Given the description of an element on the screen output the (x, y) to click on. 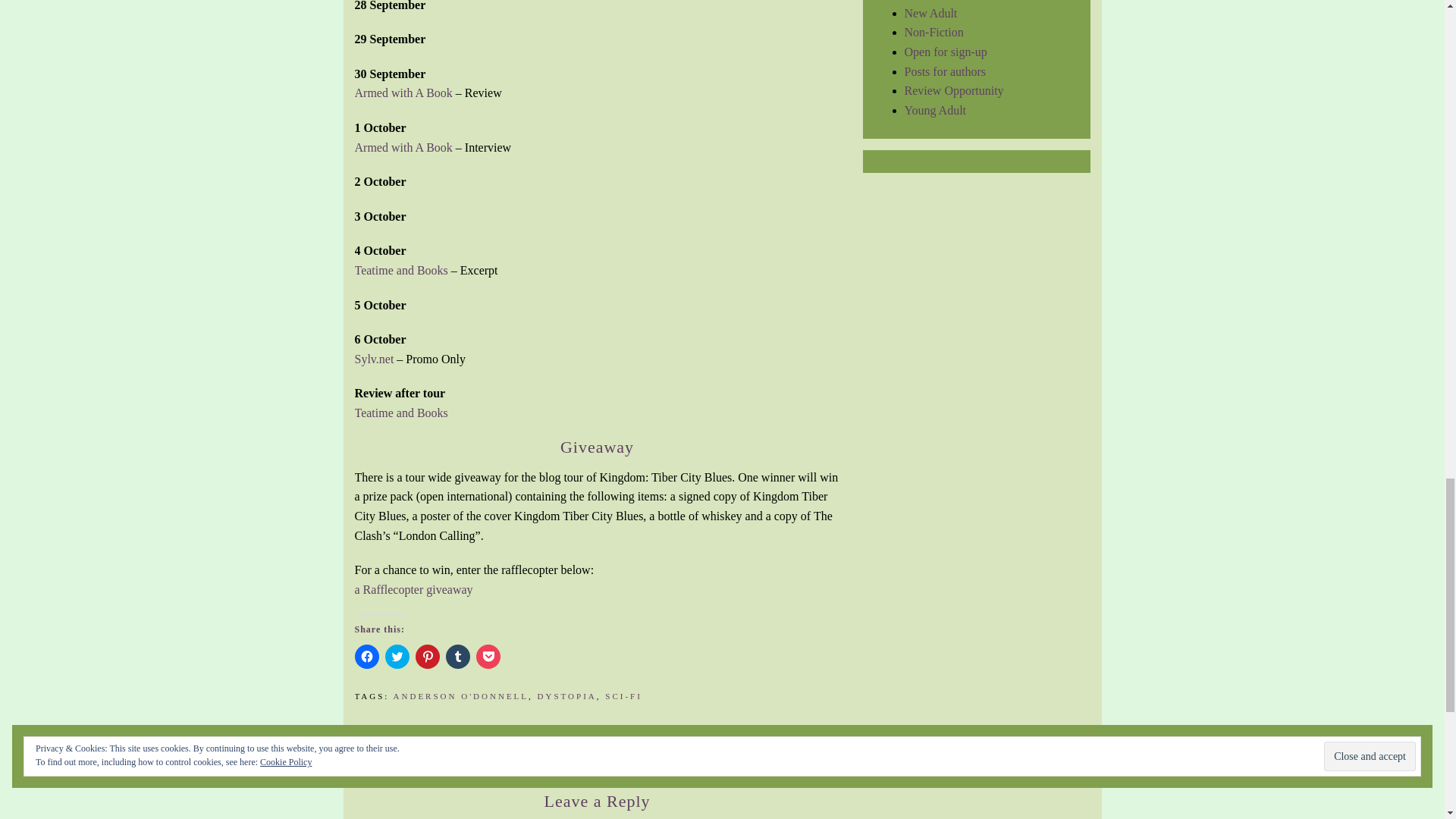
Click to share on Pocket (488, 656)
Click to share on Twitter (397, 656)
Click to share on Pinterest (426, 656)
Click to share on Facebook (366, 656)
Click to share on Tumblr (457, 656)
